Given the description of an element on the screen output the (x, y) to click on. 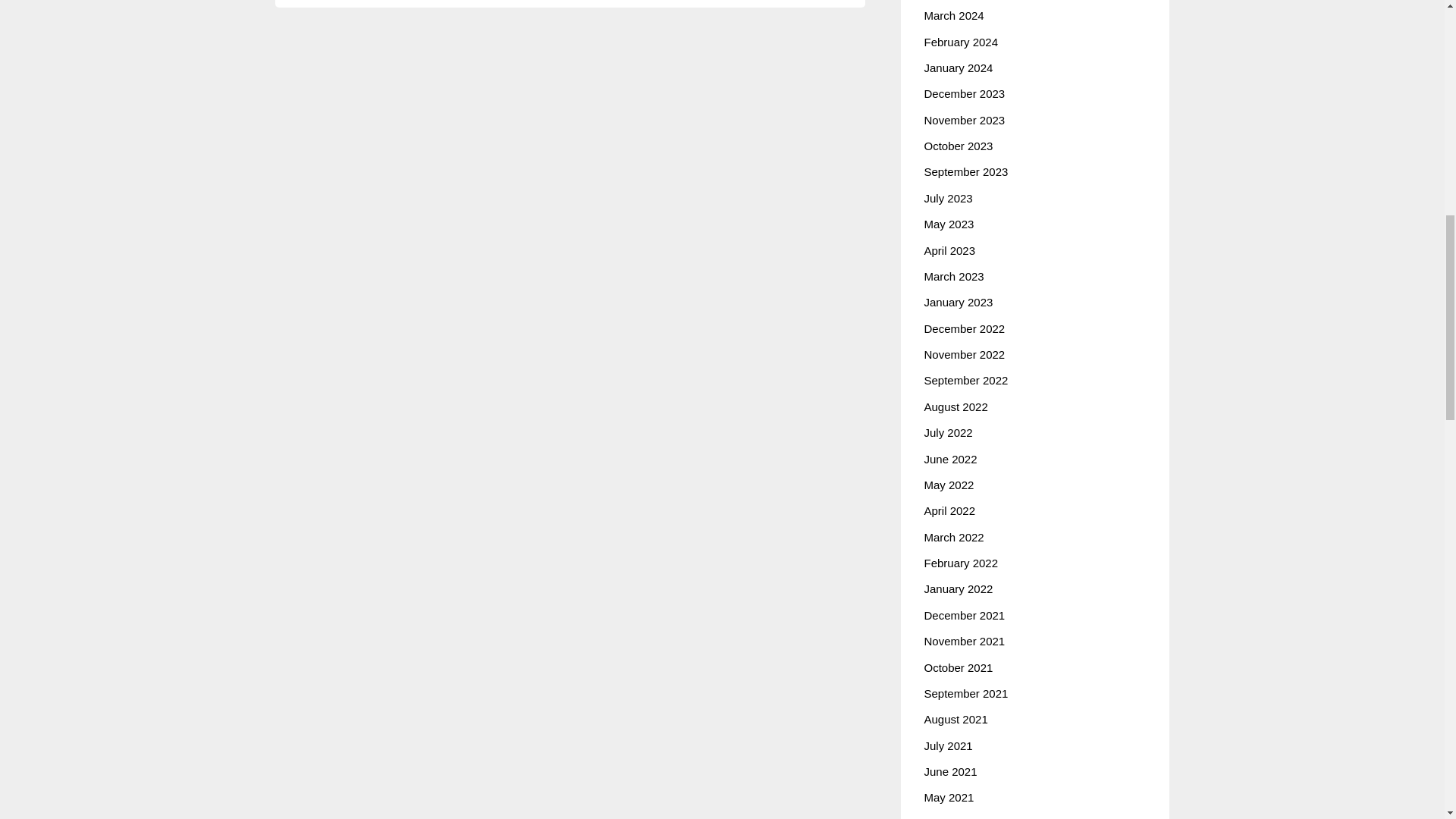
June 2022 (949, 458)
September 2023 (965, 171)
December 2022 (963, 328)
April 2023 (949, 250)
May 2023 (948, 223)
November 2022 (963, 354)
July 2022 (947, 431)
January 2023 (957, 301)
October 2023 (957, 145)
September 2022 (965, 379)
